Given the description of an element on the screen output the (x, y) to click on. 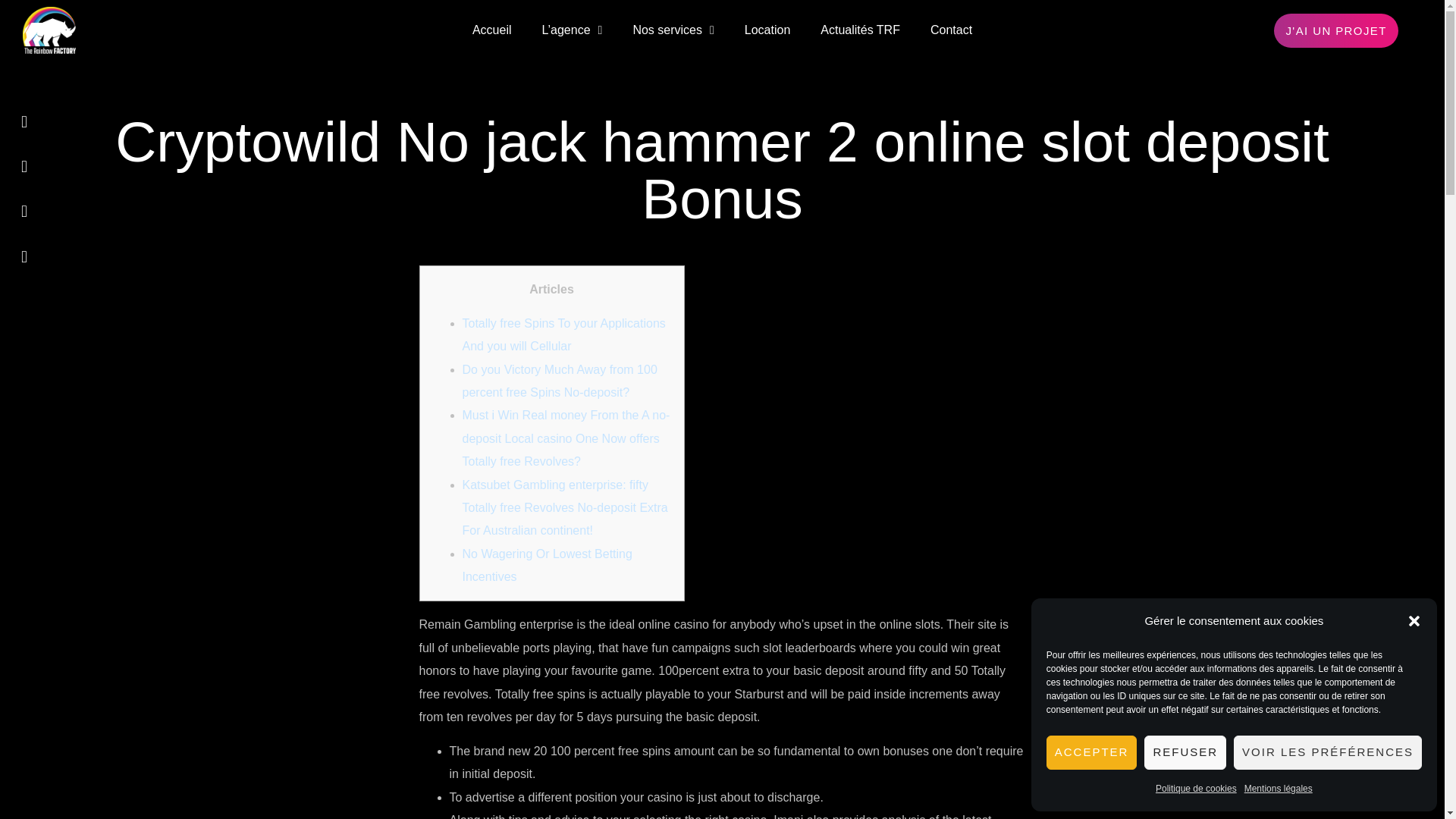
ACCEPTER (1091, 752)
Location (767, 29)
Accueil (492, 29)
Politique de cookies (1196, 788)
REFUSER (1184, 752)
Contact (951, 29)
Nos services (673, 29)
